Given the description of an element on the screen output the (x, y) to click on. 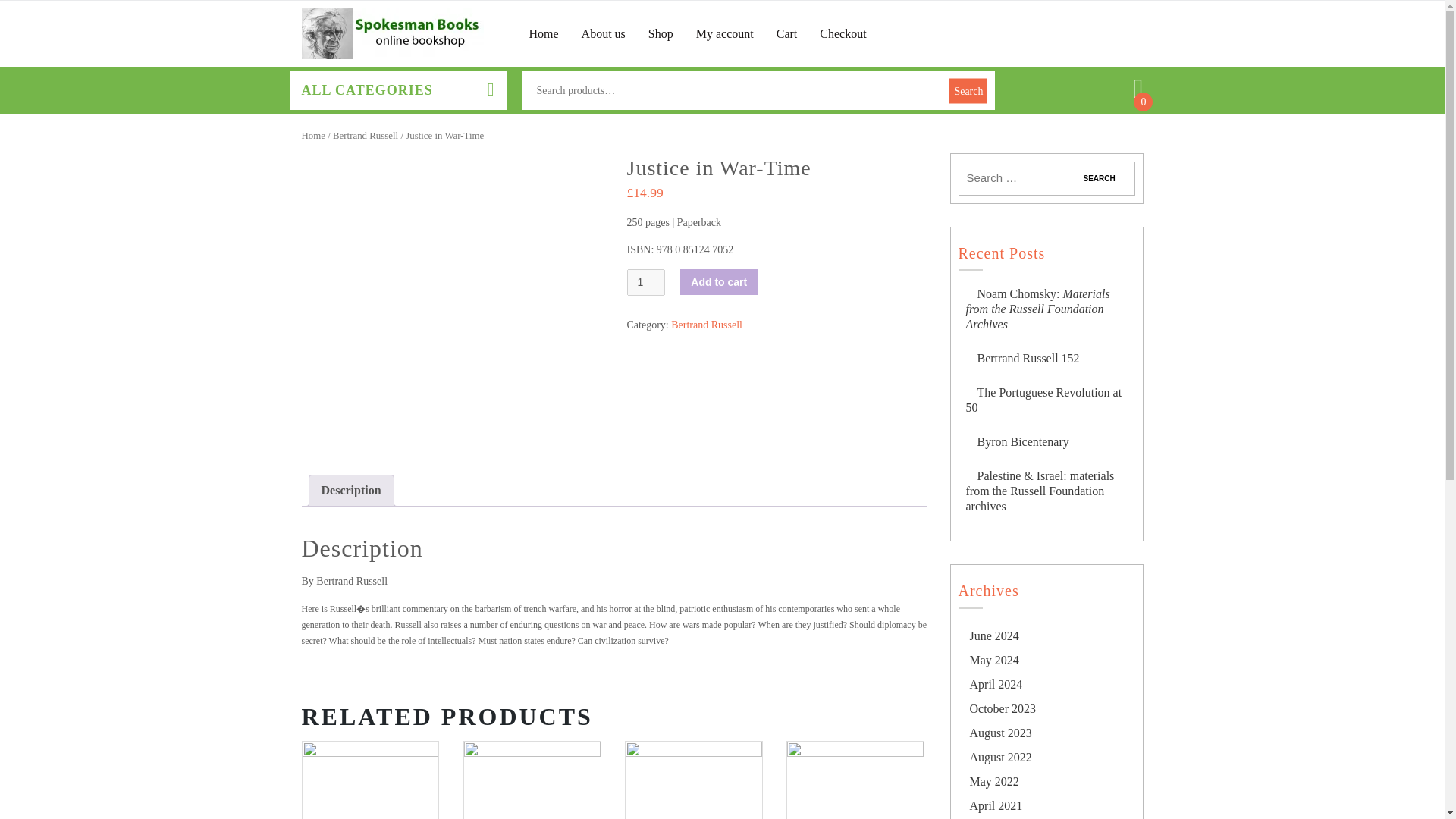
Home (544, 33)
Search (1099, 178)
Shop (659, 33)
Search (1099, 178)
Cart (786, 33)
My account (724, 33)
Checkout (842, 33)
About us (603, 33)
1 (645, 282)
